Given the description of an element on the screen output the (x, y) to click on. 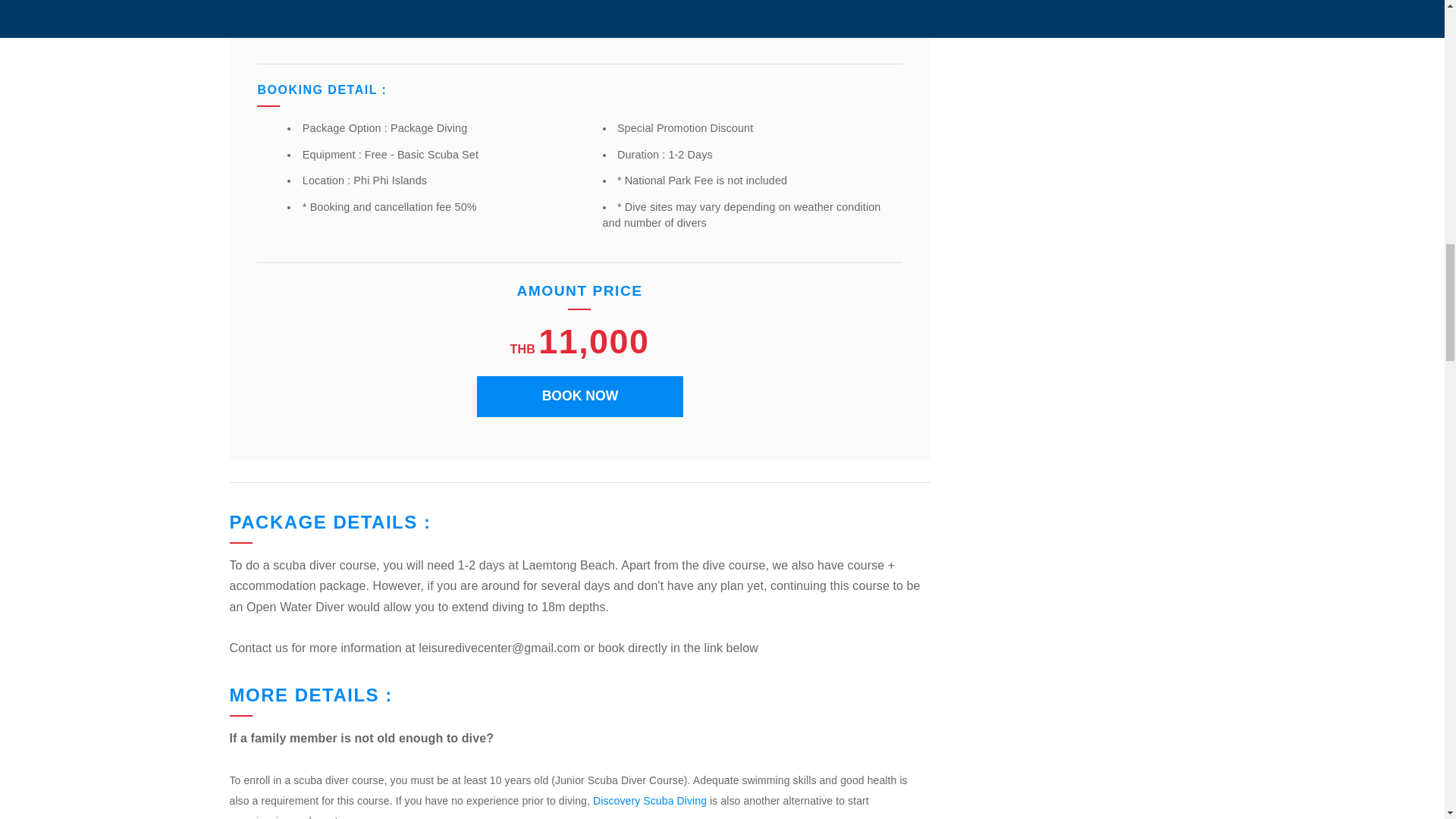
BOOK NOW (579, 395)
BOOK NOW (579, 396)
Discovery Scuba Diving (647, 800)
